Given the description of an element on the screen output the (x, y) to click on. 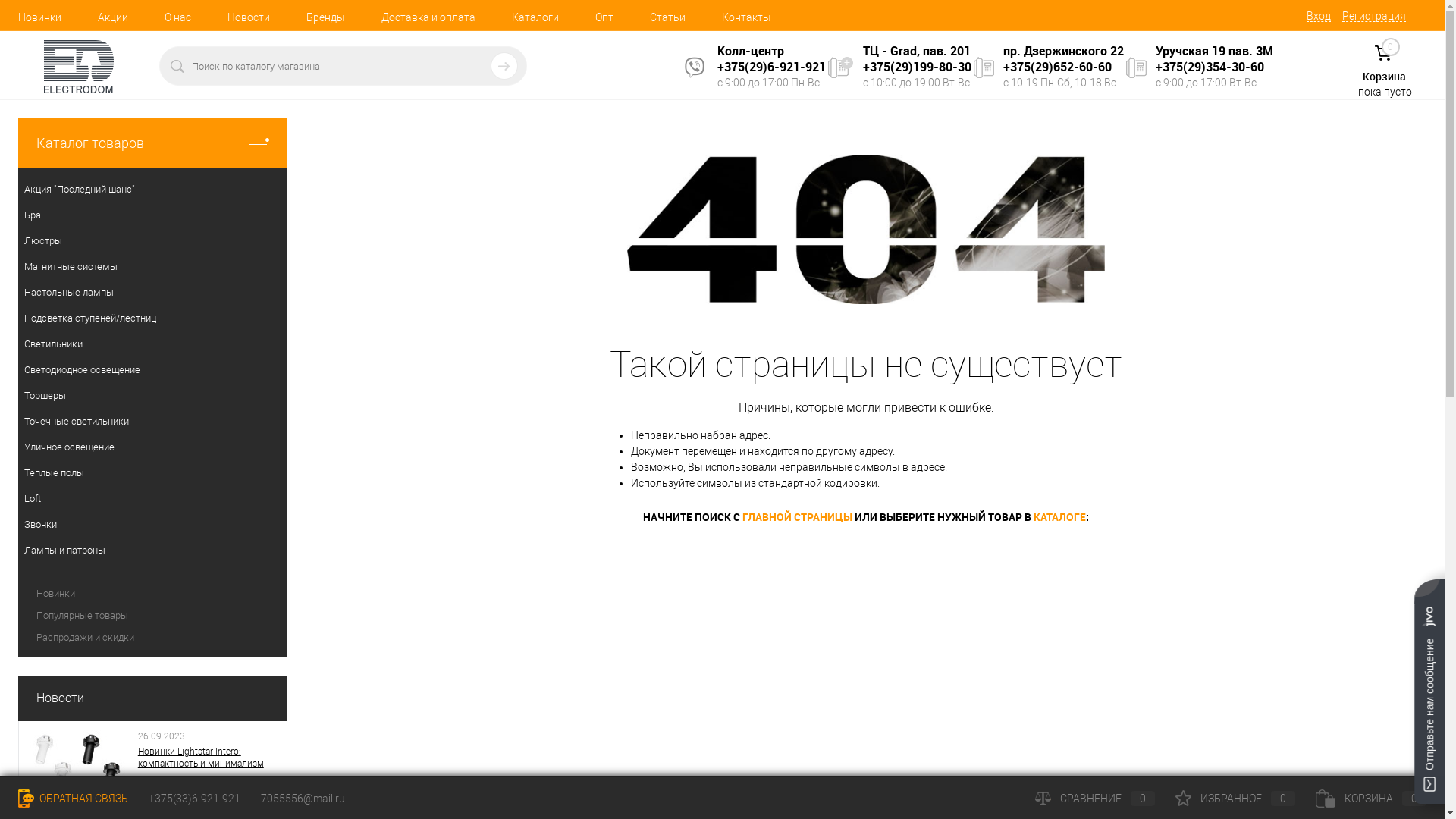
0 Element type: text (1382, 52)
7055556@mail.ru Element type: text (302, 798)
Y Element type: text (504, 65)
+375(29)354-30-60 Element type: text (1209, 66)
+375(33)6-921-921 Element type: text (194, 798)
+375(29)199-80-30 Element type: text (916, 66)
+375(29)652-60-60 Element type: text (1057, 66)
Loft Element type: text (152, 498)
+375(29)6-921-921 Element type: text (771, 66)
